Given the description of an element on the screen output the (x, y) to click on. 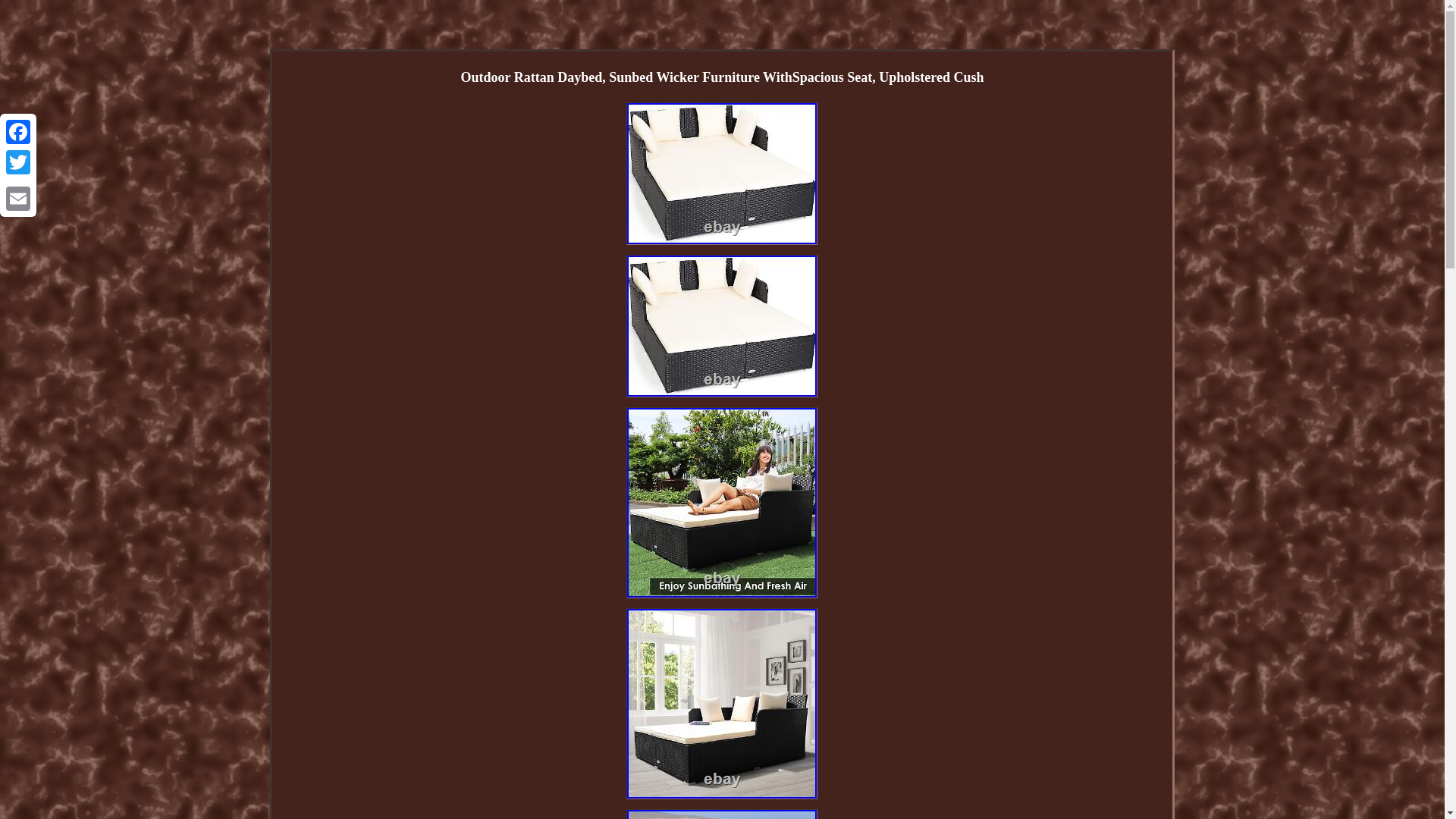
Facebook (17, 132)
Email (17, 198)
Twitter (17, 162)
